Given the description of an element on the screen output the (x, y) to click on. 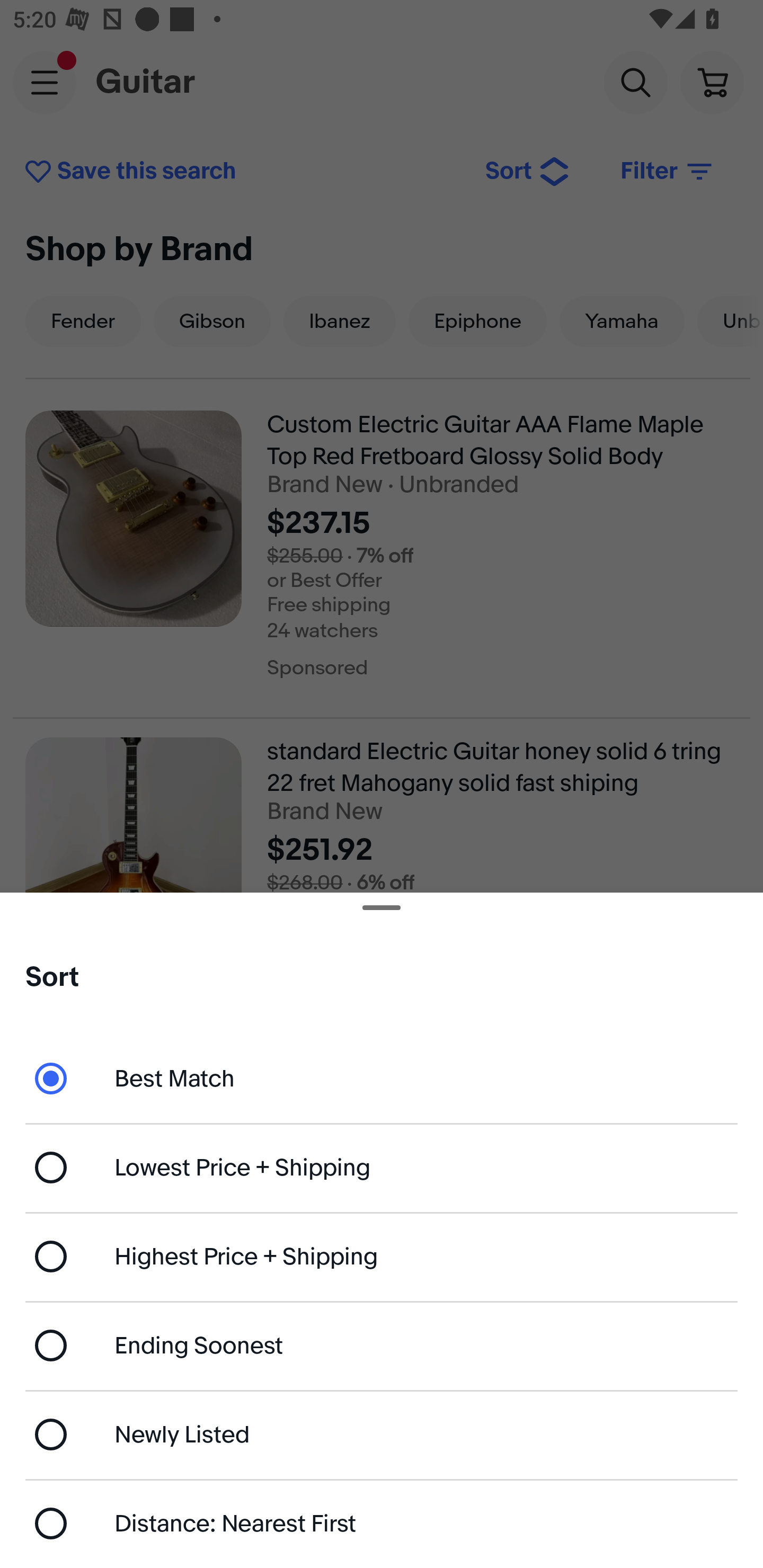
Best Match - currently selected Best Match (381, 1077)
Lowest Price + Shipping (381, 1167)
Highest Price + Shipping (381, 1256)
Ending Soonest (381, 1345)
Newly Listed (381, 1433)
Distance: Nearest First (381, 1523)
